Given the description of an element on the screen output the (x, y) to click on. 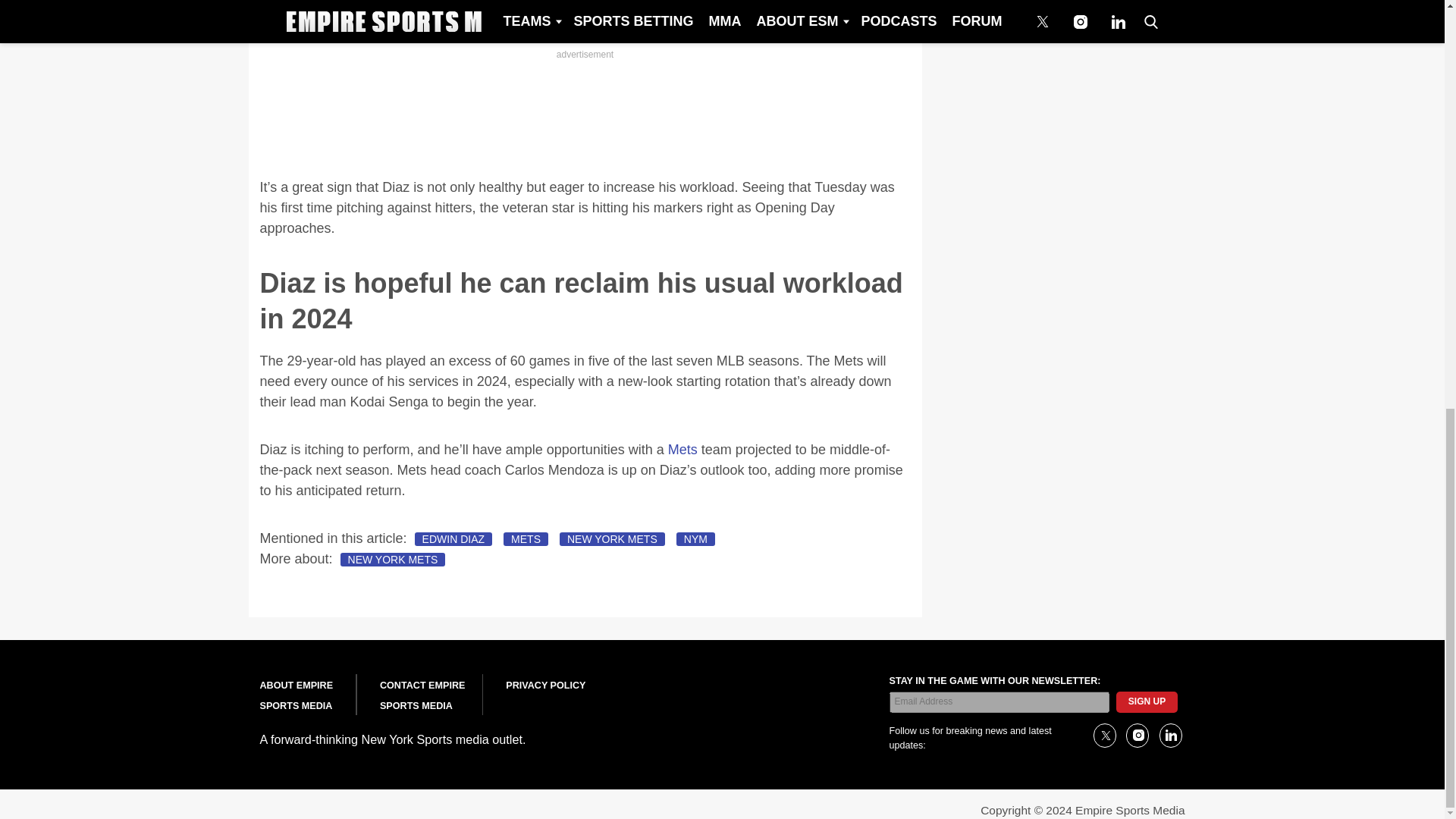
EDWIN DIAZ (453, 539)
NYM (695, 539)
METS (525, 539)
Connect with us on LinkedIn (1169, 735)
NEW YORK METS (392, 559)
Mets (682, 449)
Follow us on Instagram (1136, 735)
NEW YORK METS (612, 539)
ABOUT EMPIRE SPORTS MEDIA (296, 695)
Follow us on Twitter (1104, 735)
